Given the description of an element on the screen output the (x, y) to click on. 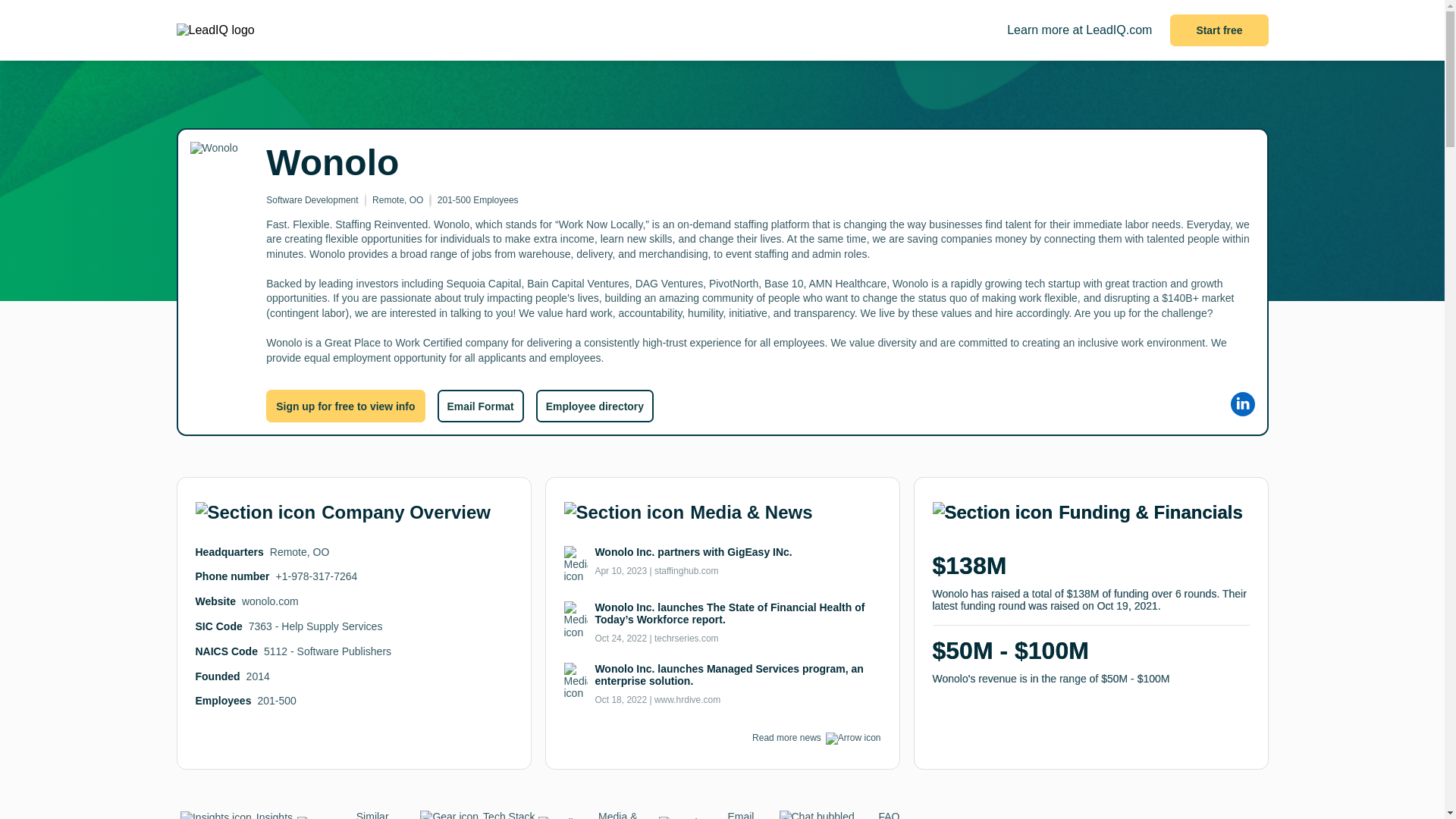
FAQ (838, 814)
Tech Stack (476, 814)
Email Format (479, 405)
Email Format (718, 814)
Insights (236, 815)
Learn more at LeadIQ.com (1079, 29)
Sign up for free to view info (345, 405)
Start free (1219, 29)
Similar companies (357, 814)
Employee directory (594, 405)
